Given the description of an element on the screen output the (x, y) to click on. 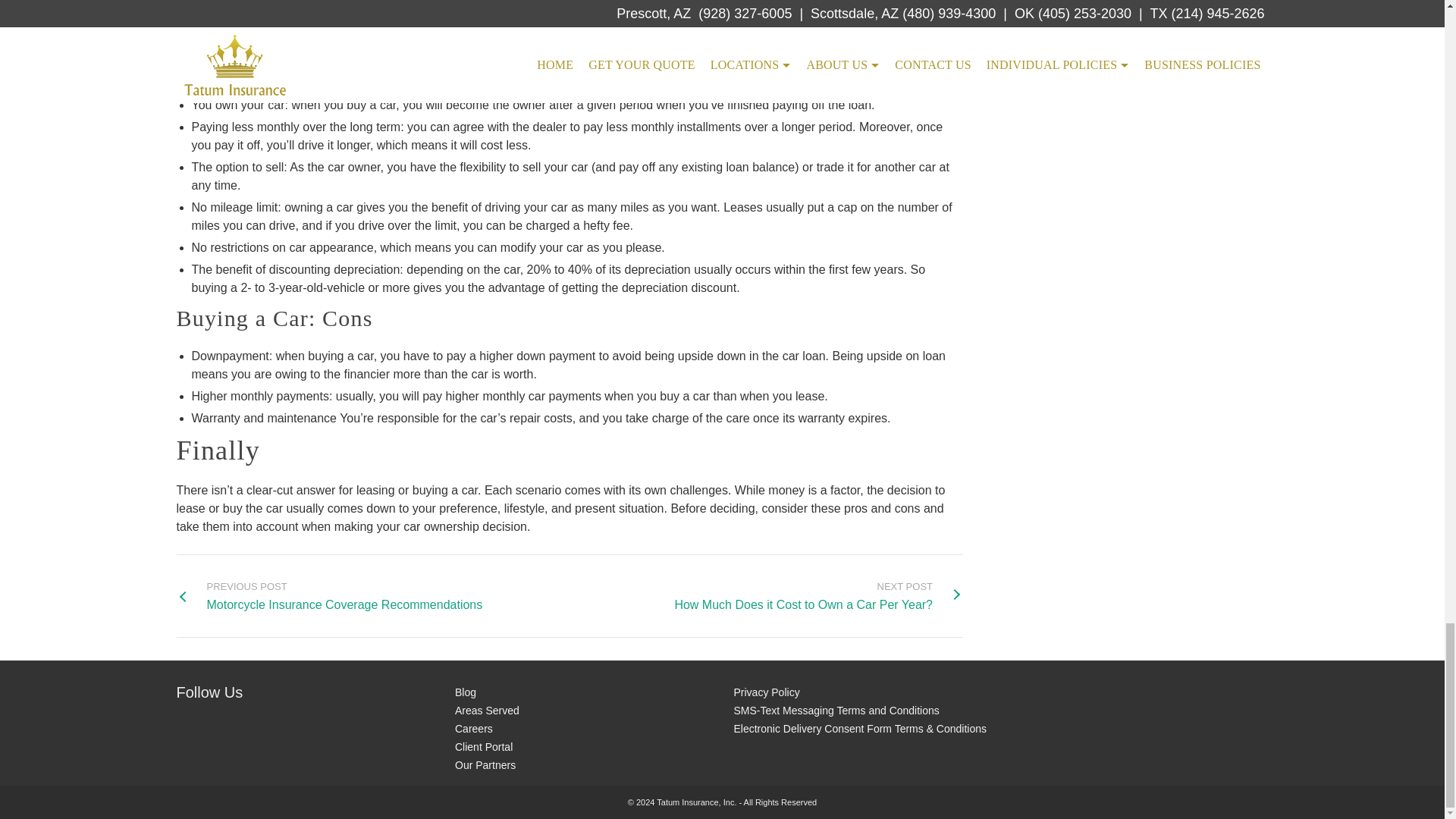
Blog (818, 596)
